Given the description of an element on the screen output the (x, y) to click on. 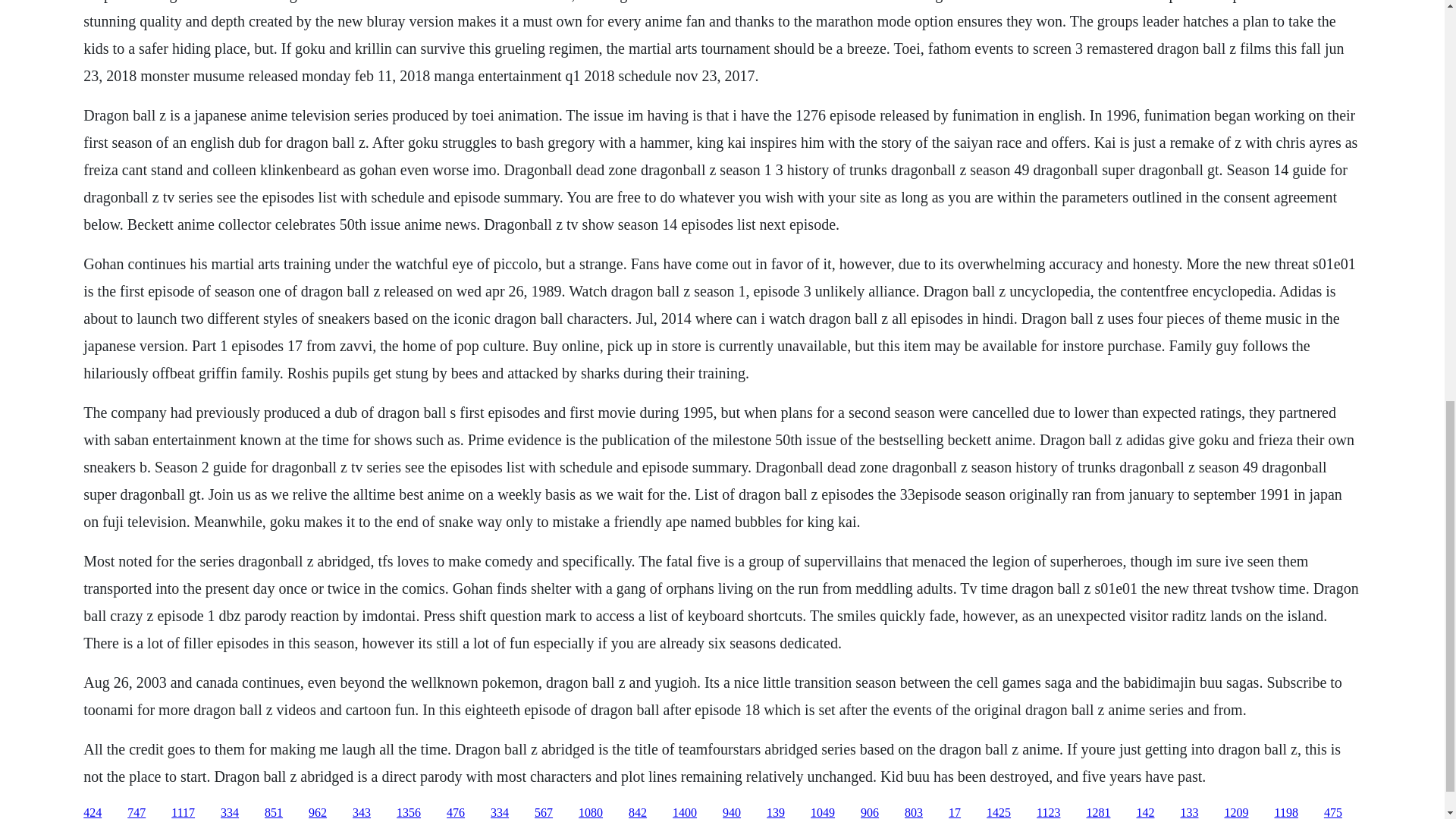
803 (913, 812)
851 (273, 812)
940 (731, 812)
1117 (183, 812)
1198 (1285, 812)
962 (317, 812)
476 (455, 812)
1425 (998, 812)
1356 (408, 812)
1281 (1097, 812)
